Given the description of an element on the screen output the (x, y) to click on. 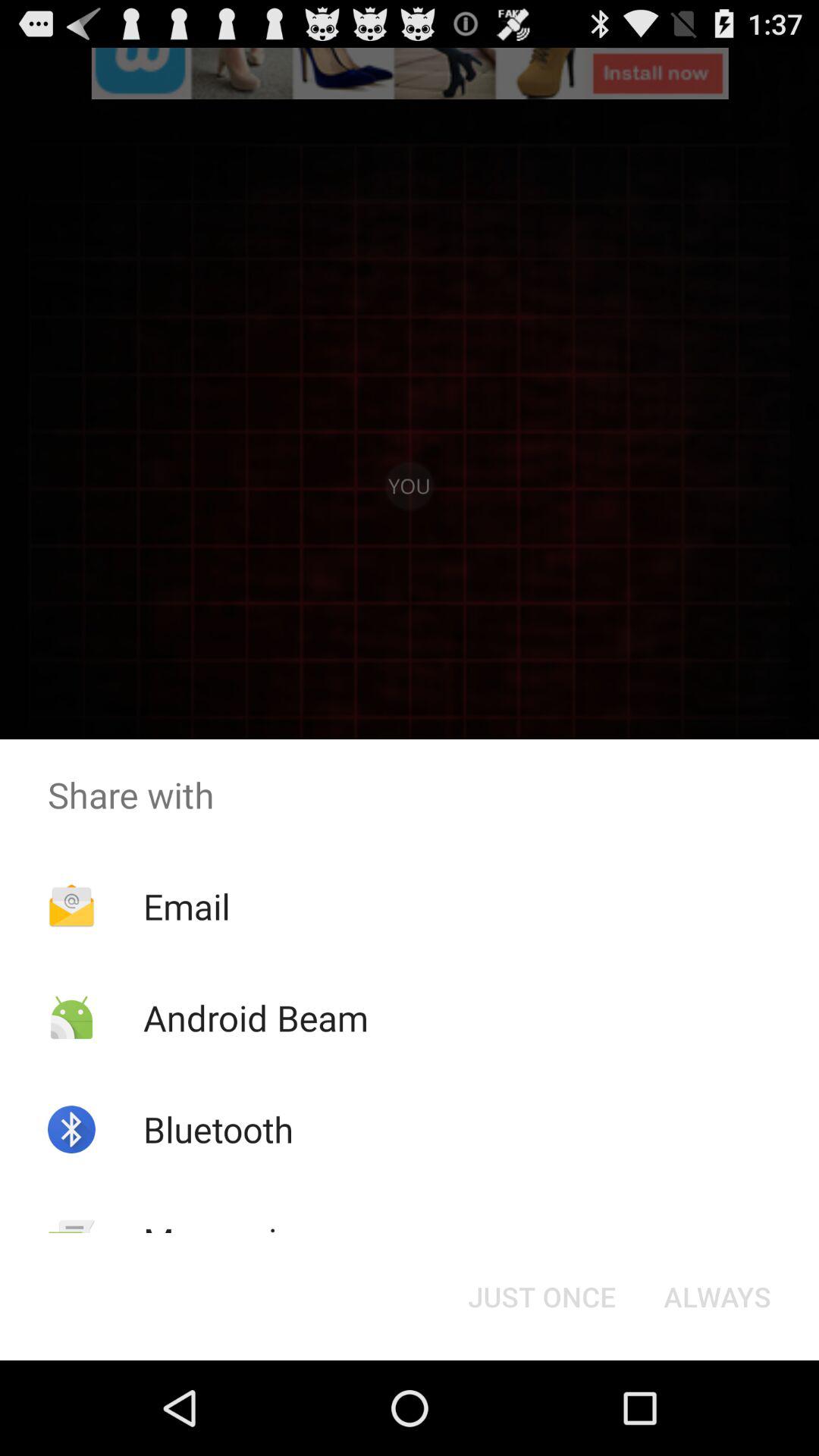
open icon below bluetooth (229, 1240)
